Given the description of an element on the screen output the (x, y) to click on. 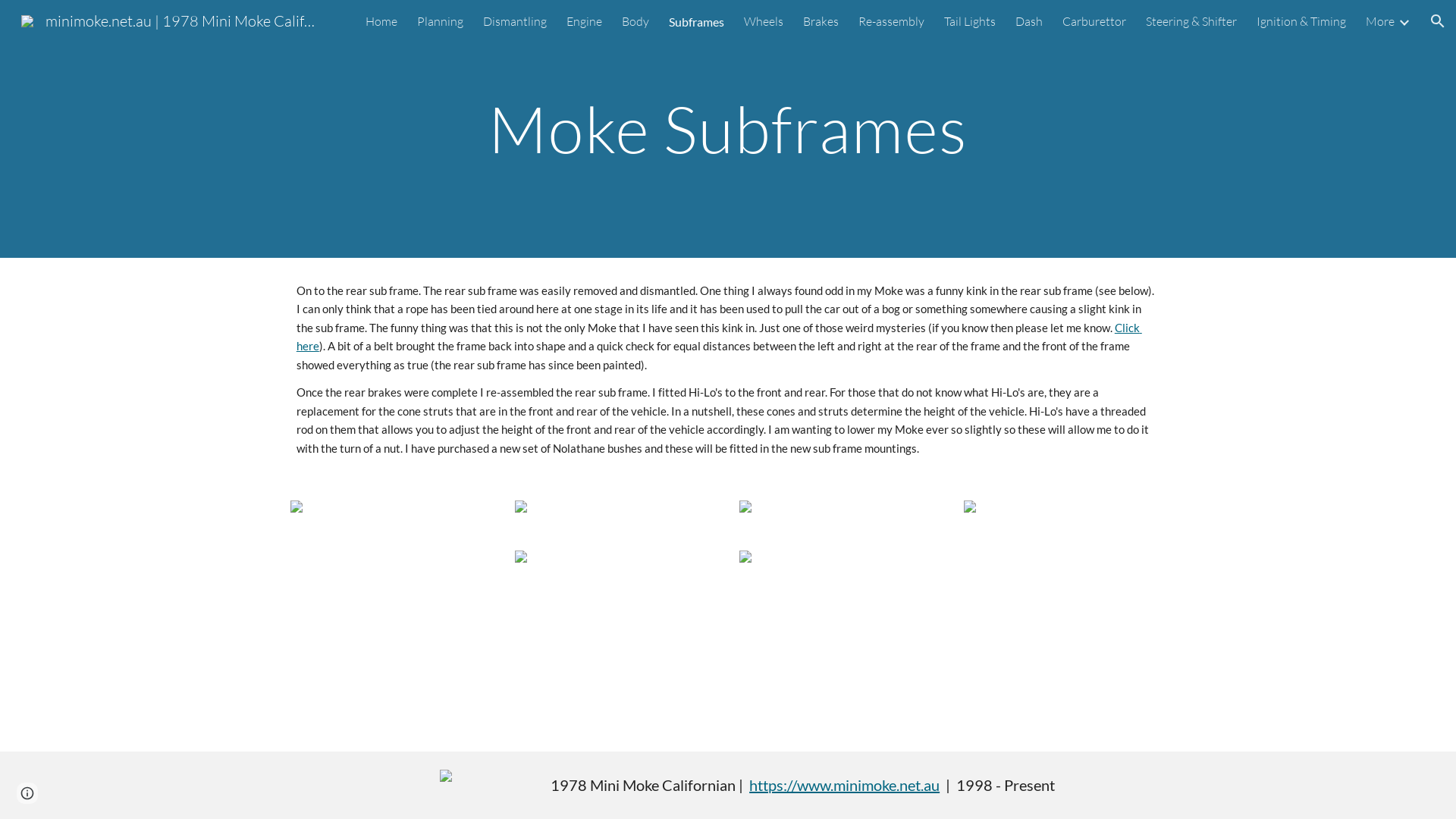
Tail Lights Element type: text (969, 20)
Click here Element type: text (719, 336)
Carburettor Element type: text (1094, 20)
Steering & Shifter Element type: text (1190, 20)
Subframes Element type: text (696, 20)
More Element type: text (1379, 20)
https://www.minimoke.net.au Element type: text (844, 784)
Home Element type: text (381, 20)
Planning Element type: text (440, 20)
Engine Element type: text (584, 20)
Expand/Collapse Element type: hover (1403, 20)
Re-assembly Element type: text (891, 20)
Ignition & Timing Element type: text (1301, 20)
Dash Element type: text (1028, 20)
Body Element type: text (635, 20)
Wheels Element type: text (763, 20)
Brakes Element type: text (820, 20)
Dismantling Element type: text (514, 20)
